Given the description of an element on the screen output the (x, y) to click on. 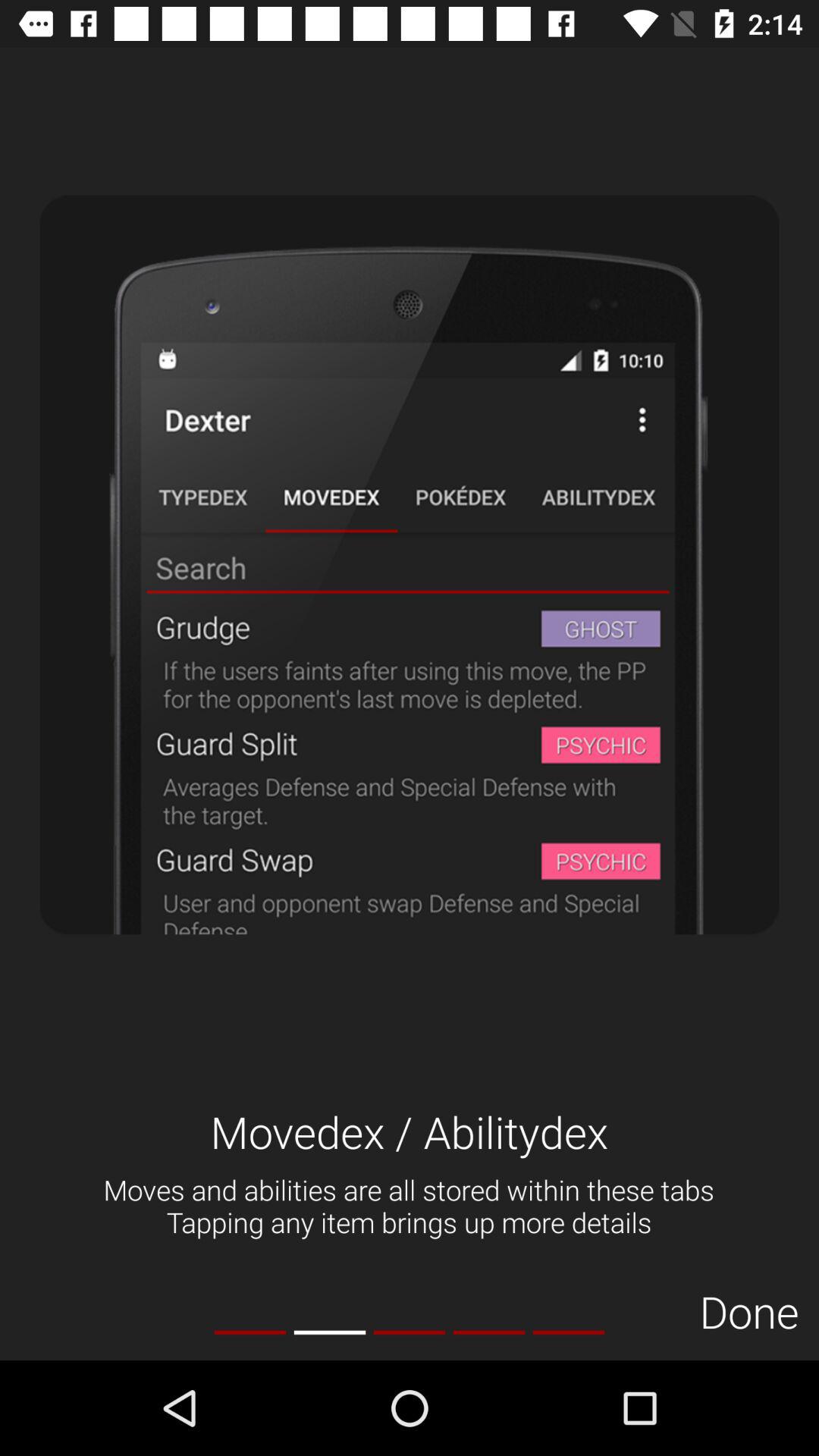
choose icon below moves and abilities app (568, 1332)
